Given the description of an element on the screen output the (x, y) to click on. 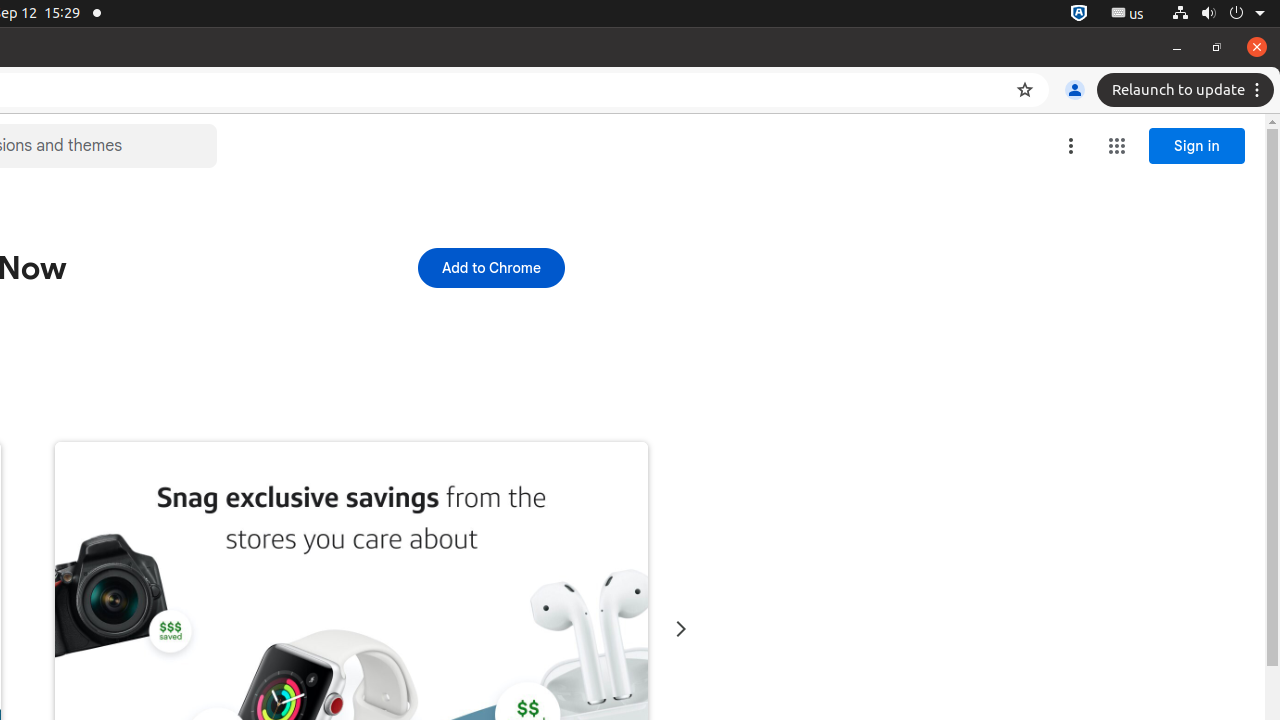
Next slide Element type: push-button (680, 629)
